Given the description of an element on the screen output the (x, y) to click on. 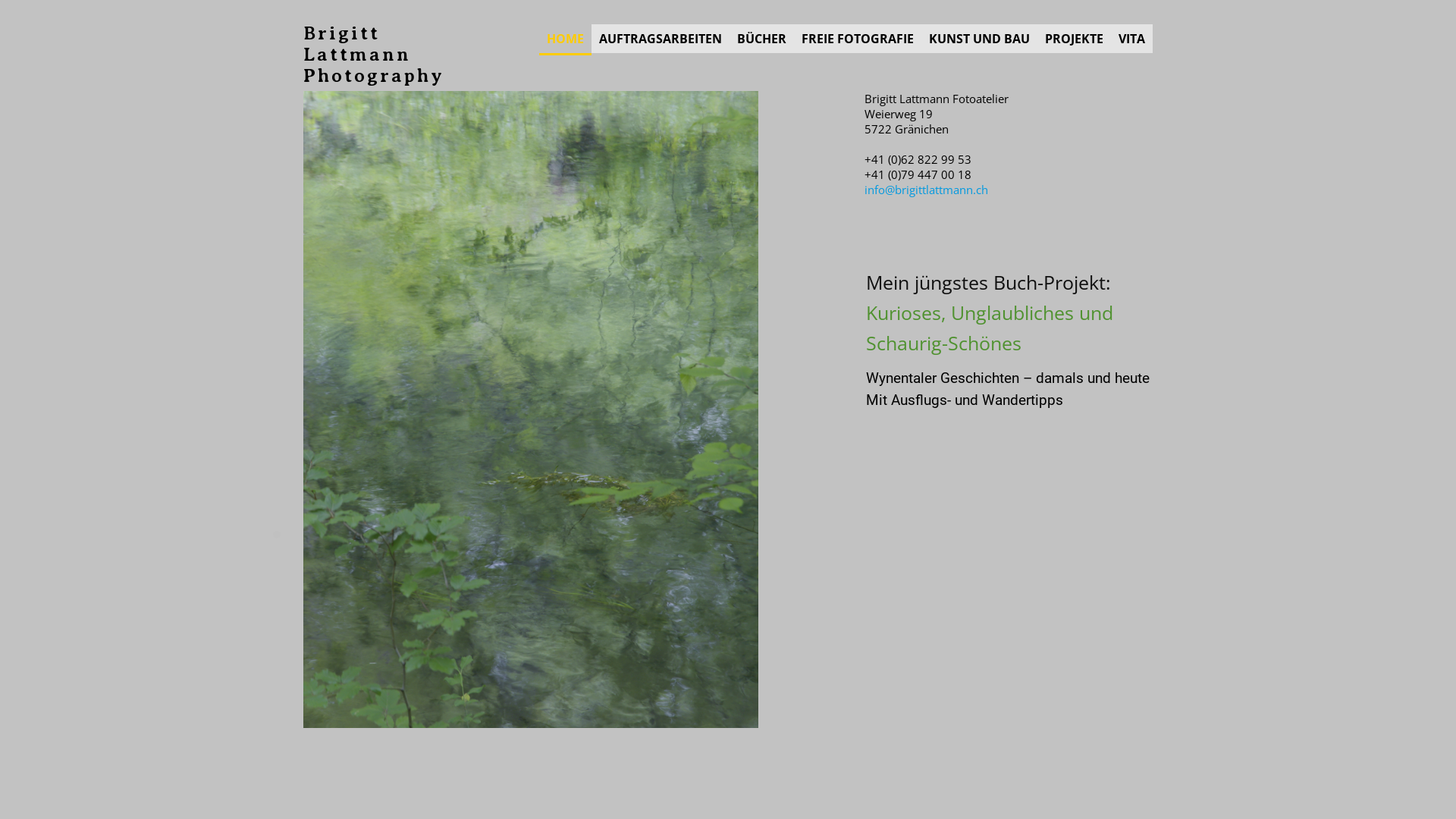
HOME Element type: text (565, 39)
info@brigittlattmann.ch Element type: text (926, 189)
VITA Element type: text (1131, 38)
PROJEKTE Element type: text (1073, 38)
FREIE FOTOGRAFIE Element type: text (857, 38)
KUNST UND BAU Element type: text (979, 38)
AUFTRAGSARBEITEN Element type: text (660, 38)
K Element type: text (871, 312)
